Given the description of an element on the screen output the (x, y) to click on. 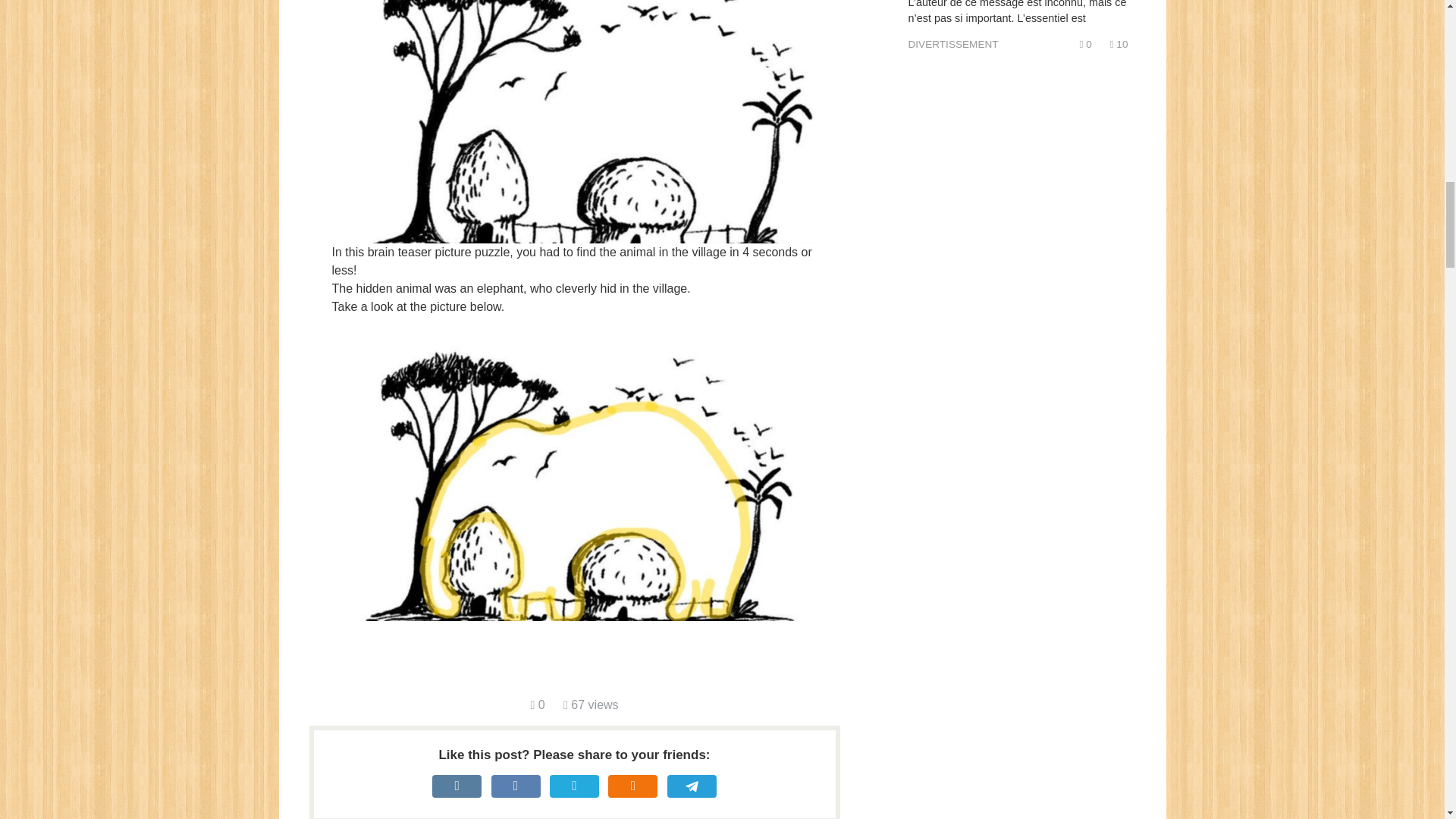
Comments (536, 704)
Views (590, 704)
DIVERTISSEMENT (953, 43)
